Given the description of an element on the screen output the (x, y) to click on. 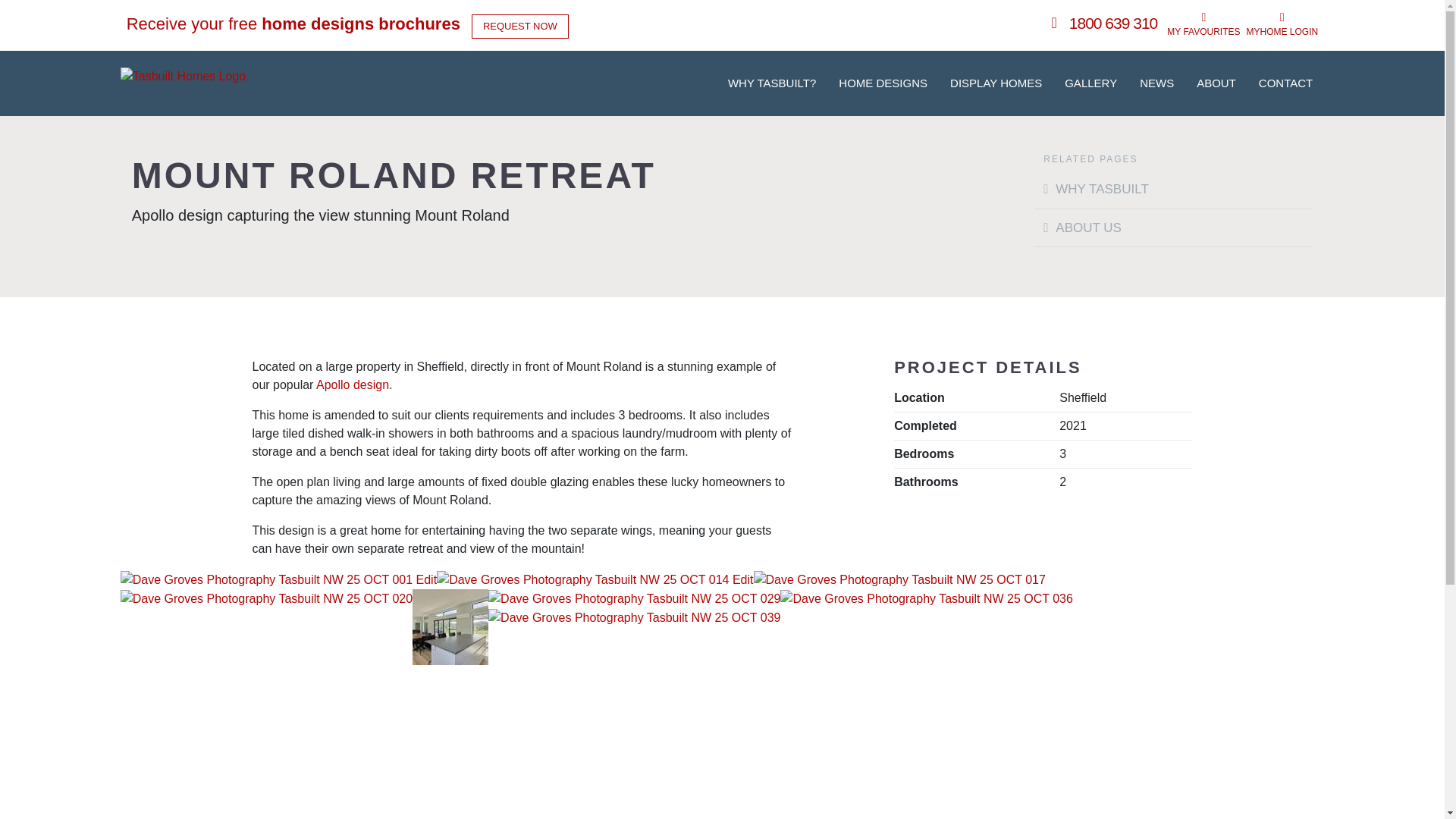
DISPLAY HOMES (995, 83)
HOME DESIGNS (883, 83)
Dave Groves Photography Tasbuilt NW 25 OCT 039 (633, 617)
Dave Groves Photography Tasbuilt NW 25 OCT 014 Edit (594, 579)
Dave Groves Photography Tasbuilt NW 25 OCT 022 (449, 626)
Dave Groves Photography Tasbuilt NW 25 OCT 029 (633, 598)
Dave Groves Photography Tasbuilt NW 25 OCT 017 (899, 579)
Dave Groves Photography Tasbuilt NW 25 OCT 036 (925, 598)
MYHOME LOGIN (1282, 24)
WHY TASBUILT? (771, 83)
